Given the description of an element on the screen output the (x, y) to click on. 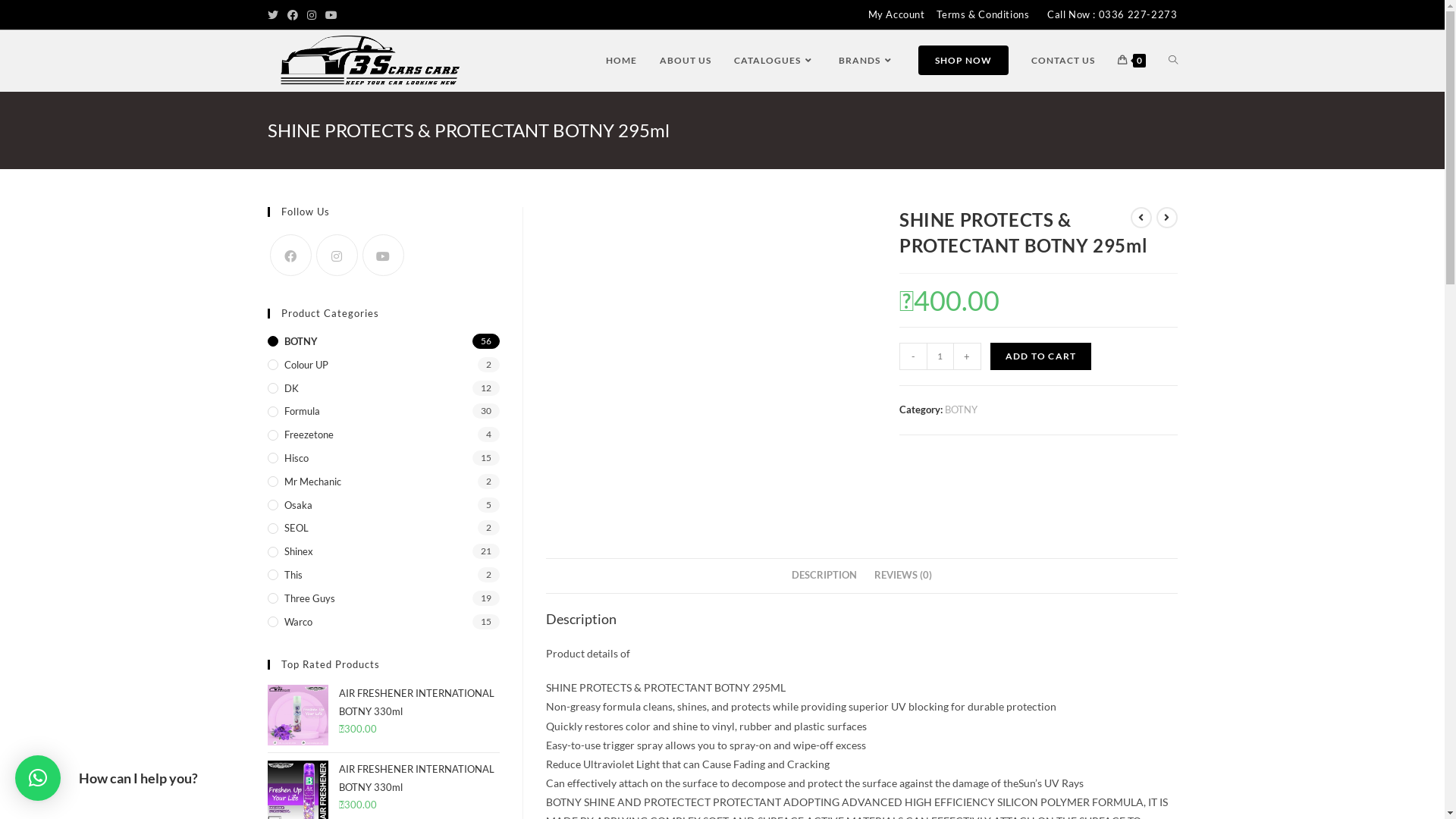
Hisco Element type: text (382, 458)
BOTNY Element type: text (960, 409)
Three Guys Element type: text (382, 598)
AIR FRESHENER INTERNATIONAL BOTNY 330ml Element type: text (418, 786)
CONTACT US Element type: text (1062, 60)
Terms & Conditions Element type: text (982, 14)
BOTNY Element type: text (382, 341)
How can I help you? Element type: text (37, 777)
SEOL Element type: text (382, 528)
Shinex Element type: text (382, 551)
AIR FRESHENER INTERNATIONAL BOTNY 330ml Element type: text (418, 710)
This Element type: text (382, 575)
Formula Element type: text (382, 411)
- Element type: text (912, 356)
ABOUT US Element type: text (684, 60)
1650 Element type: text (1106, 24)
Warco Element type: text (382, 622)
DK Element type: text (382, 388)
0 Element type: text (1130, 60)
CATALOGUES Element type: text (773, 60)
BRANDS Element type: text (866, 60)
+ Element type: text (967, 356)
SHOP NOW Element type: text (962, 60)
REVIEWS (0) Element type: text (902, 575)
Mr Mechanic Element type: text (382, 481)
Freezetone Element type: text (382, 434)
Colour UP Element type: text (382, 365)
DESCRIPTION Element type: text (824, 575)
ADD TO CART Element type: text (1040, 356)
HOME Element type: text (621, 60)
My Account Element type: text (896, 14)
Osaka Element type: text (382, 505)
